Given the description of an element on the screen output the (x, y) to click on. 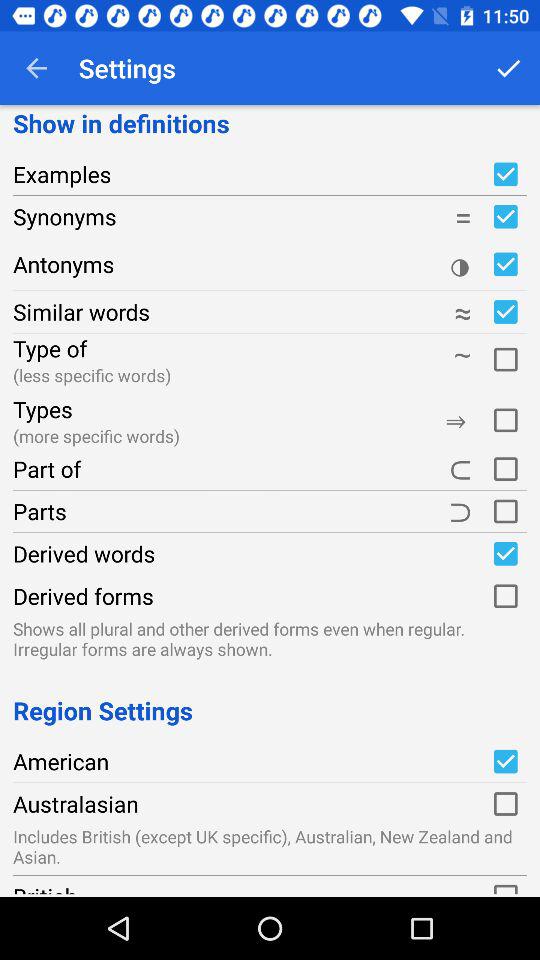
show parts option (505, 511)
